Given the description of an element on the screen output the (x, y) to click on. 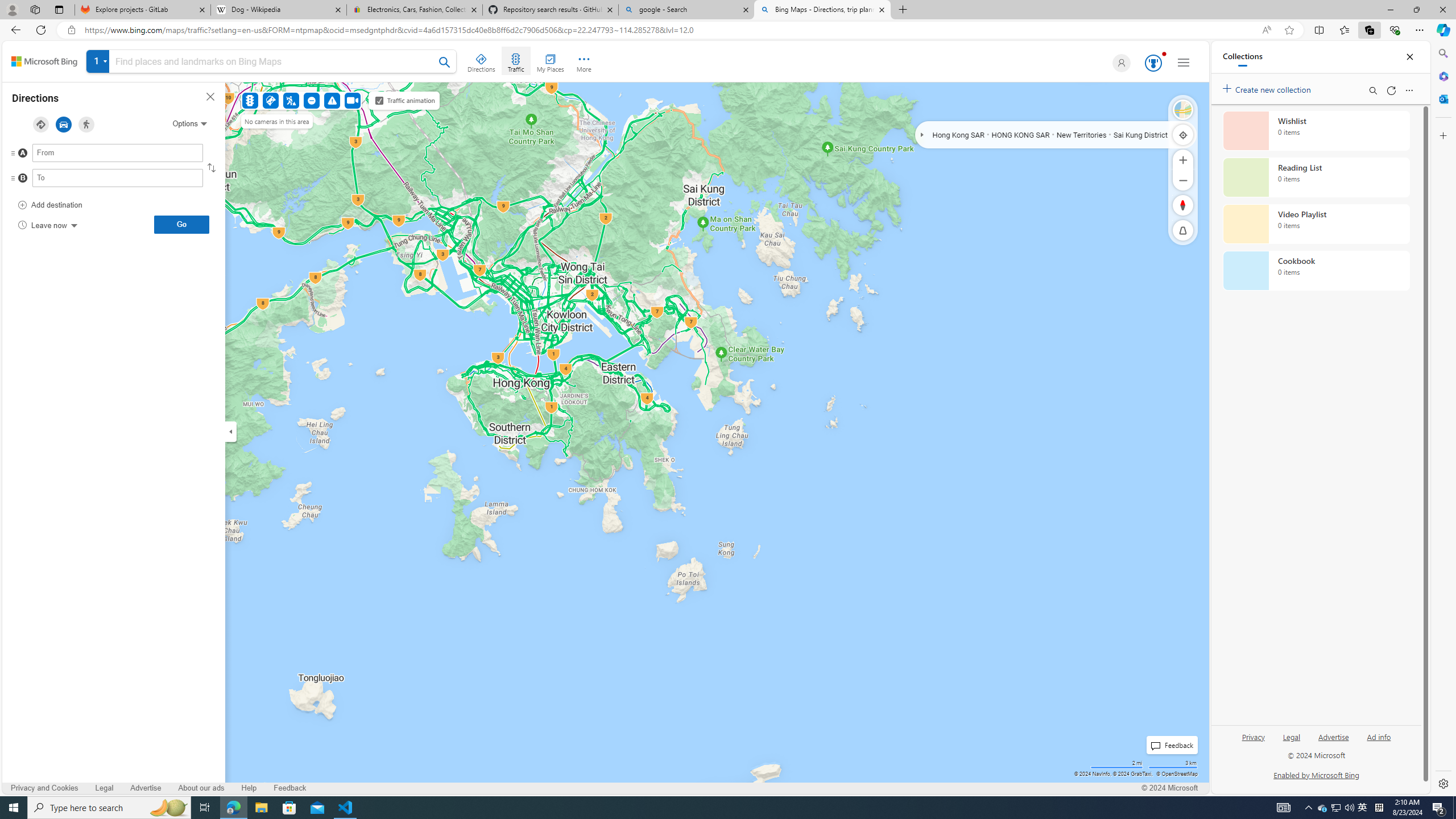
Legal (1292, 741)
Ad info (1378, 741)
Traffic animation (378, 100)
Walking (86, 124)
Video Playlist collection, 0 items (1316, 223)
A (95, 155)
Driving (63, 124)
Split screen (1318, 29)
Traffic (514, 60)
Outlook (1442, 98)
From (117, 153)
Back to Bing search (44, 60)
